Given the description of an element on the screen output the (x, y) to click on. 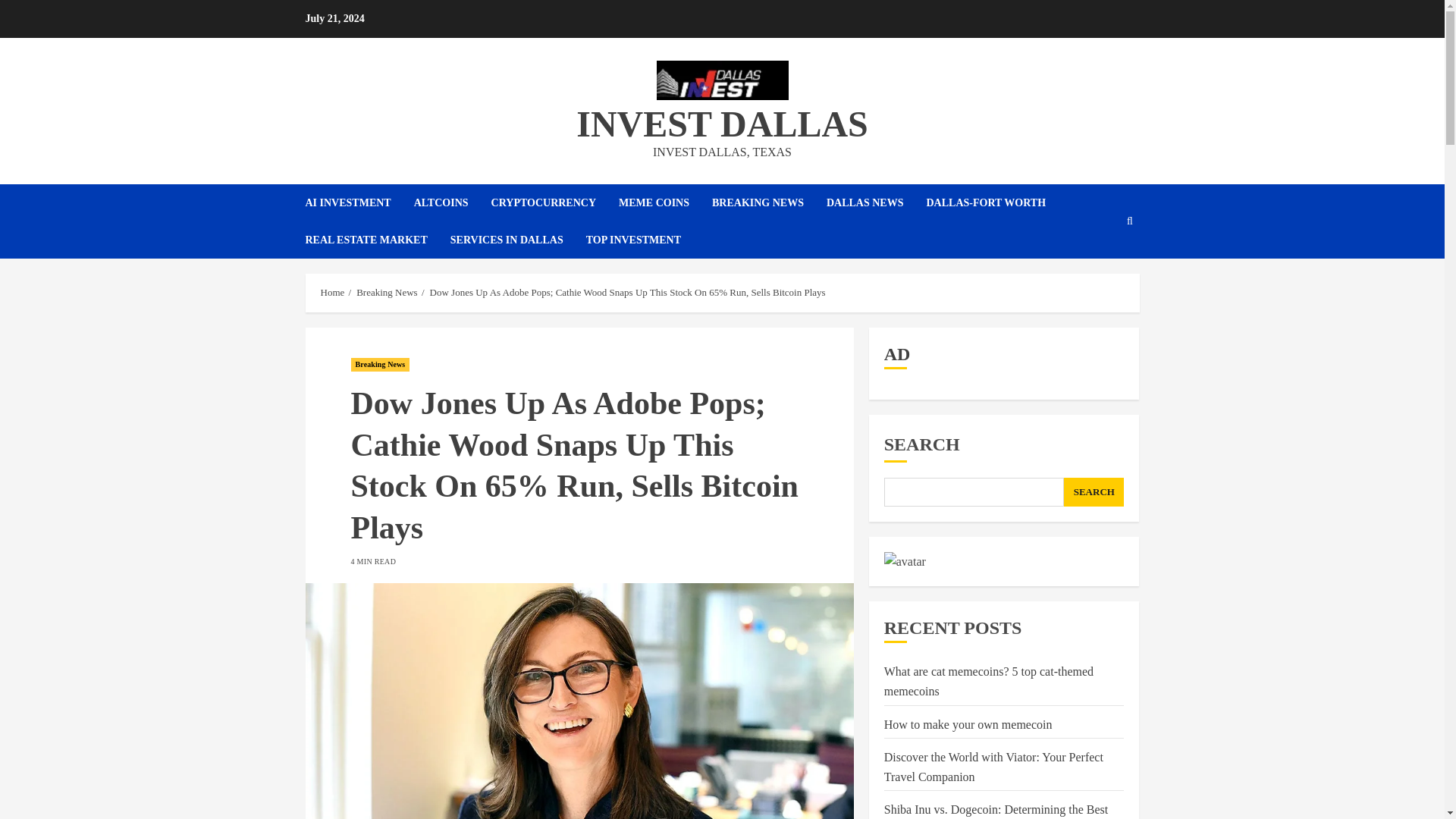
REAL ESTATE MARKET (376, 239)
DALLAS-FORT WORTH (997, 202)
AI INVESTMENT (358, 202)
Home (331, 292)
Breaking News (386, 292)
SERVICES IN DALLAS (517, 239)
ALTCOINS (452, 202)
INVEST DALLAS (721, 124)
How to make your own memecoin (967, 725)
Shiba Inu vs. Dogecoin: Determining the Best Memecoin (995, 811)
MEME COINS (664, 202)
BREAKING NEWS (769, 202)
DALLAS NEWS (876, 202)
Breaking News (379, 364)
